Given the description of an element on the screen output the (x, y) to click on. 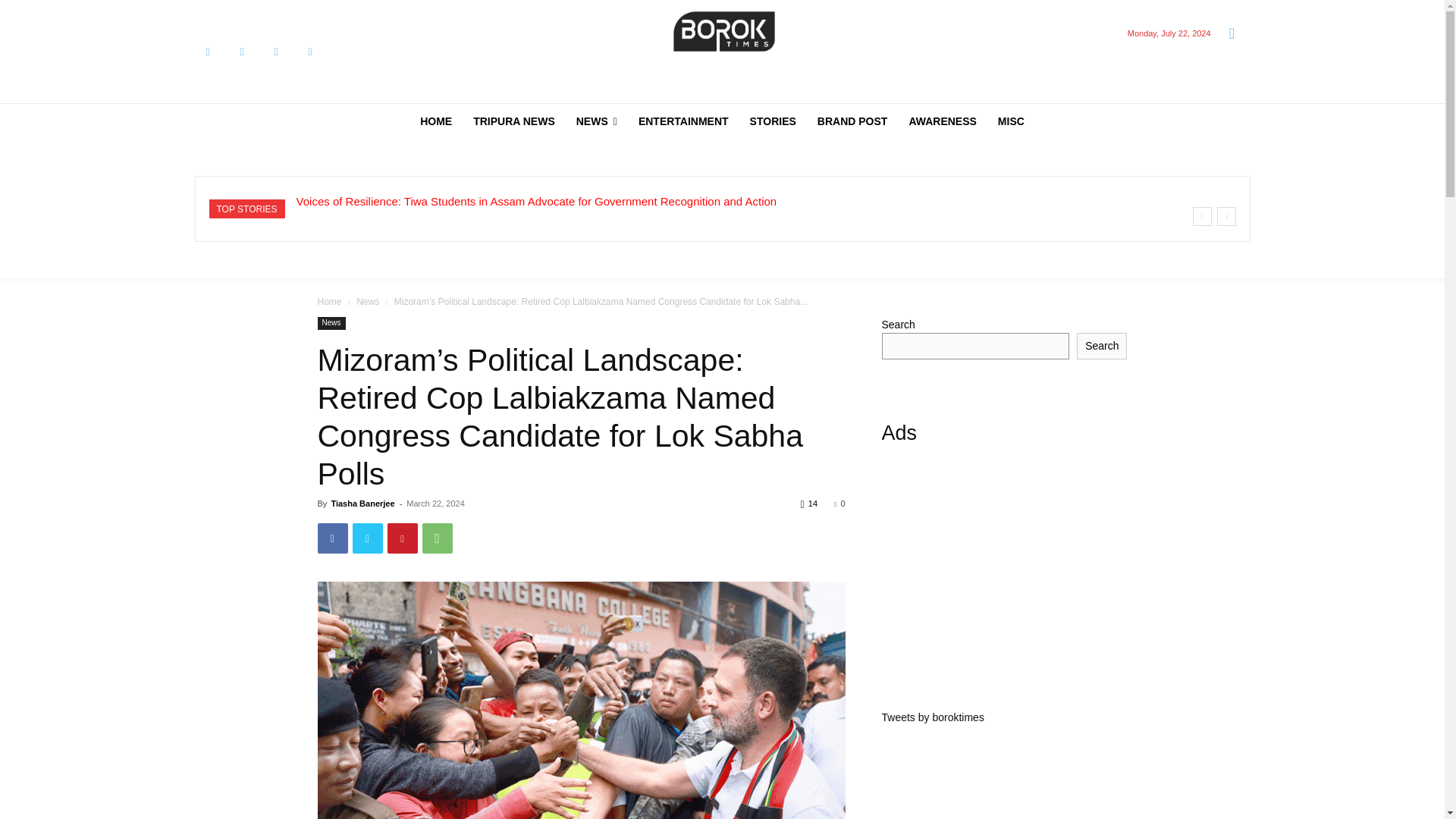
HOME (436, 121)
ENTERTAINMENT (683, 121)
TRIPURA NEWS (514, 121)
Instagram (242, 51)
Facebook (207, 51)
STORIES (772, 121)
Twitter (275, 51)
Youtube (310, 51)
NEWS (596, 121)
MISC (1011, 121)
AWARENESS (942, 121)
BRAND POST (852, 121)
